Given the description of an element on the screen output the (x, y) to click on. 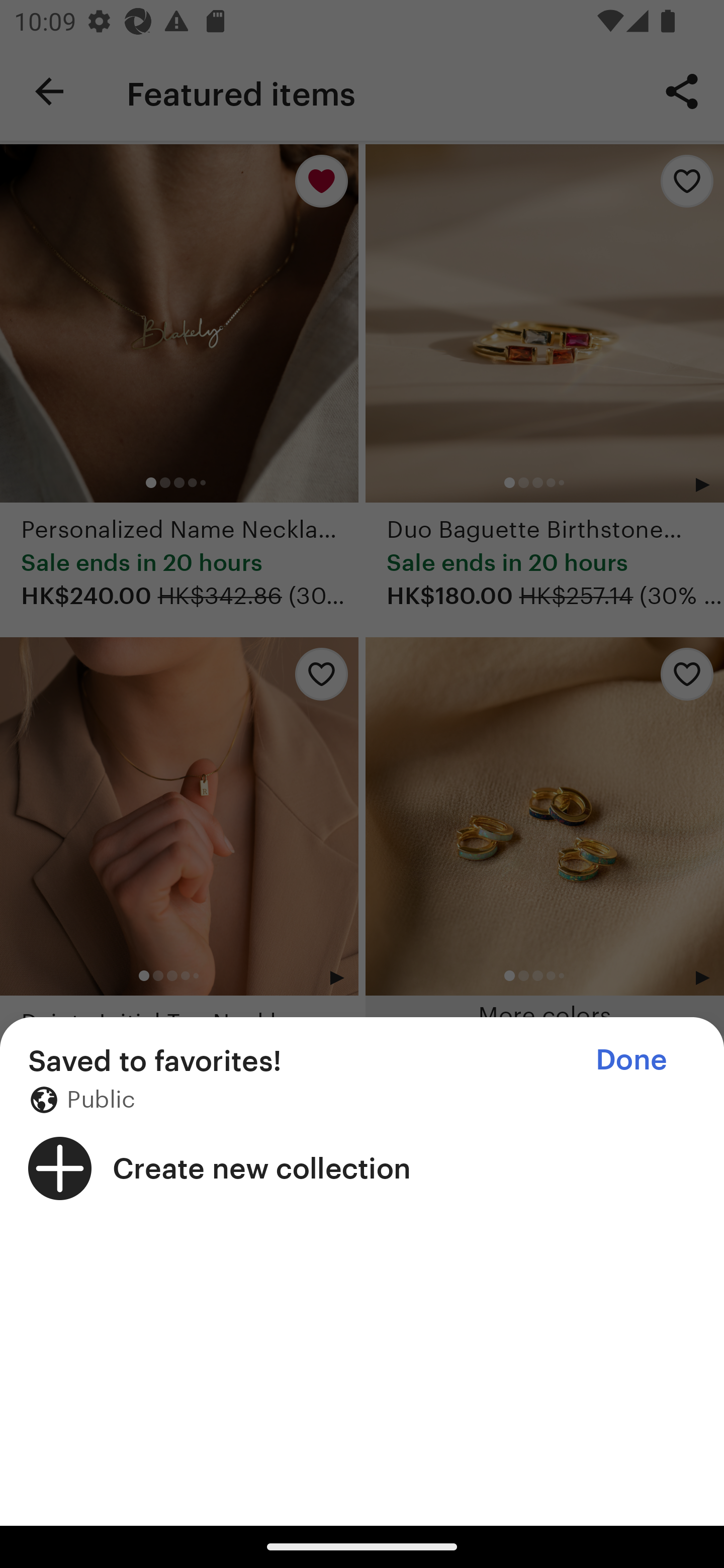
Done (630, 1059)
Create new collection (361, 1167)
